Given the description of an element on the screen output the (x, y) to click on. 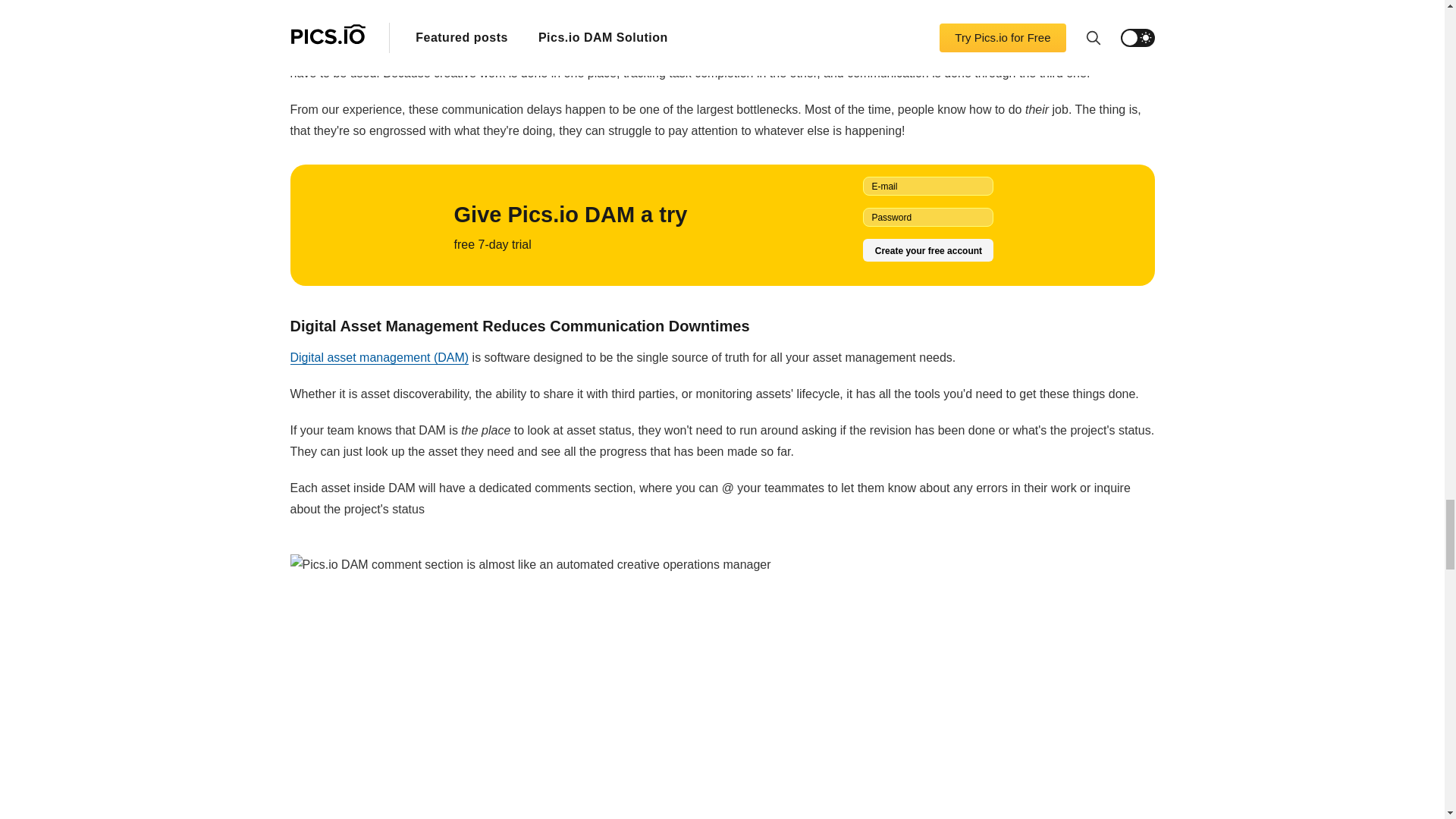
Create your free account (927, 250)
